Given the description of an element on the screen output the (x, y) to click on. 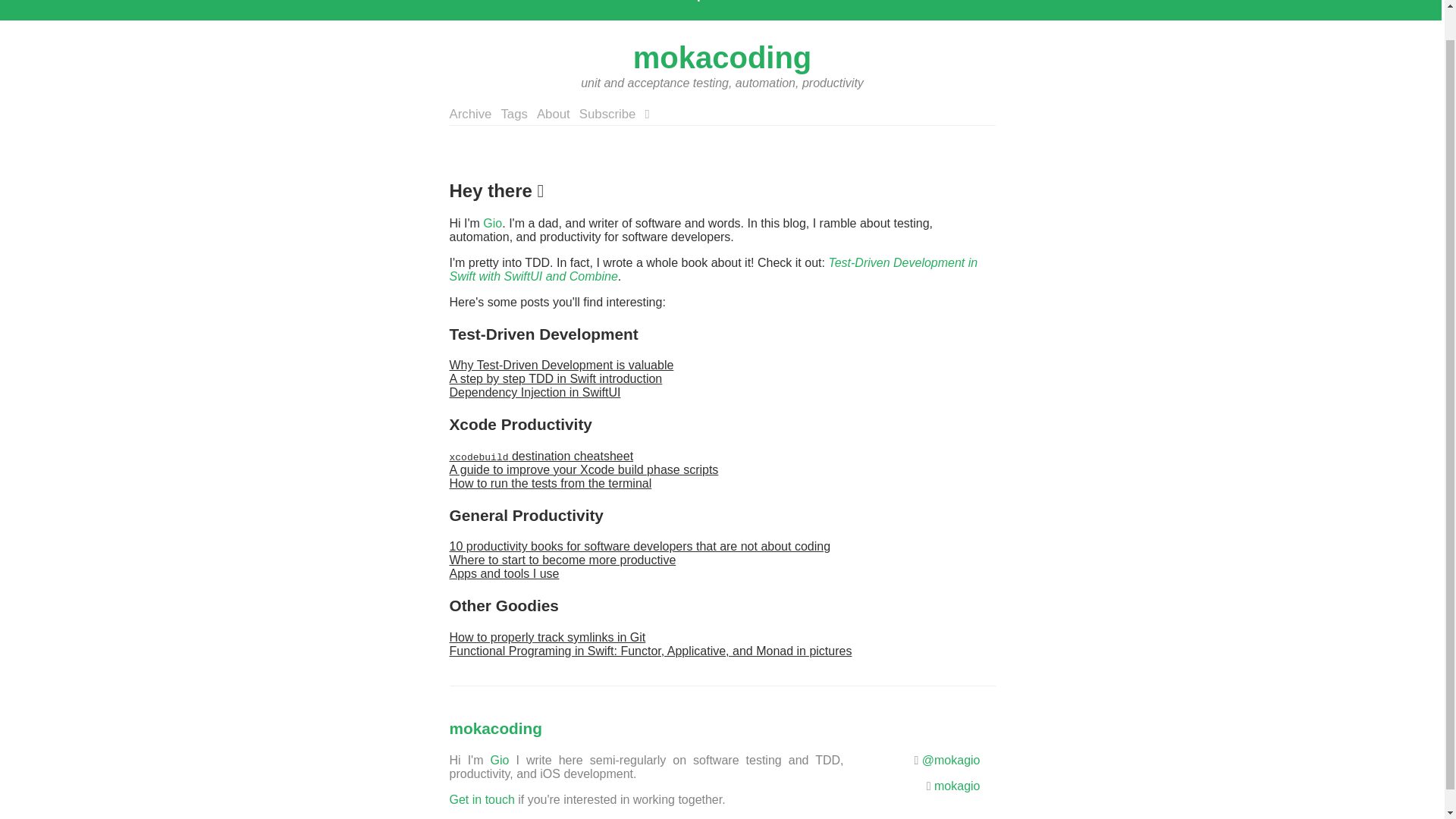
Where to start to become more productive (561, 559)
Apps and tools I use (503, 573)
Why Test-Driven Development is valuable (560, 364)
mokagio (956, 785)
Subscribe (607, 114)
Dependency Injection in SwiftUI (534, 391)
Tags (513, 114)
Test-Driven Development in Swift with SwiftUI and Combine (712, 269)
How to properly track symlinks in Git (546, 636)
